Given the description of an element on the screen output the (x, y) to click on. 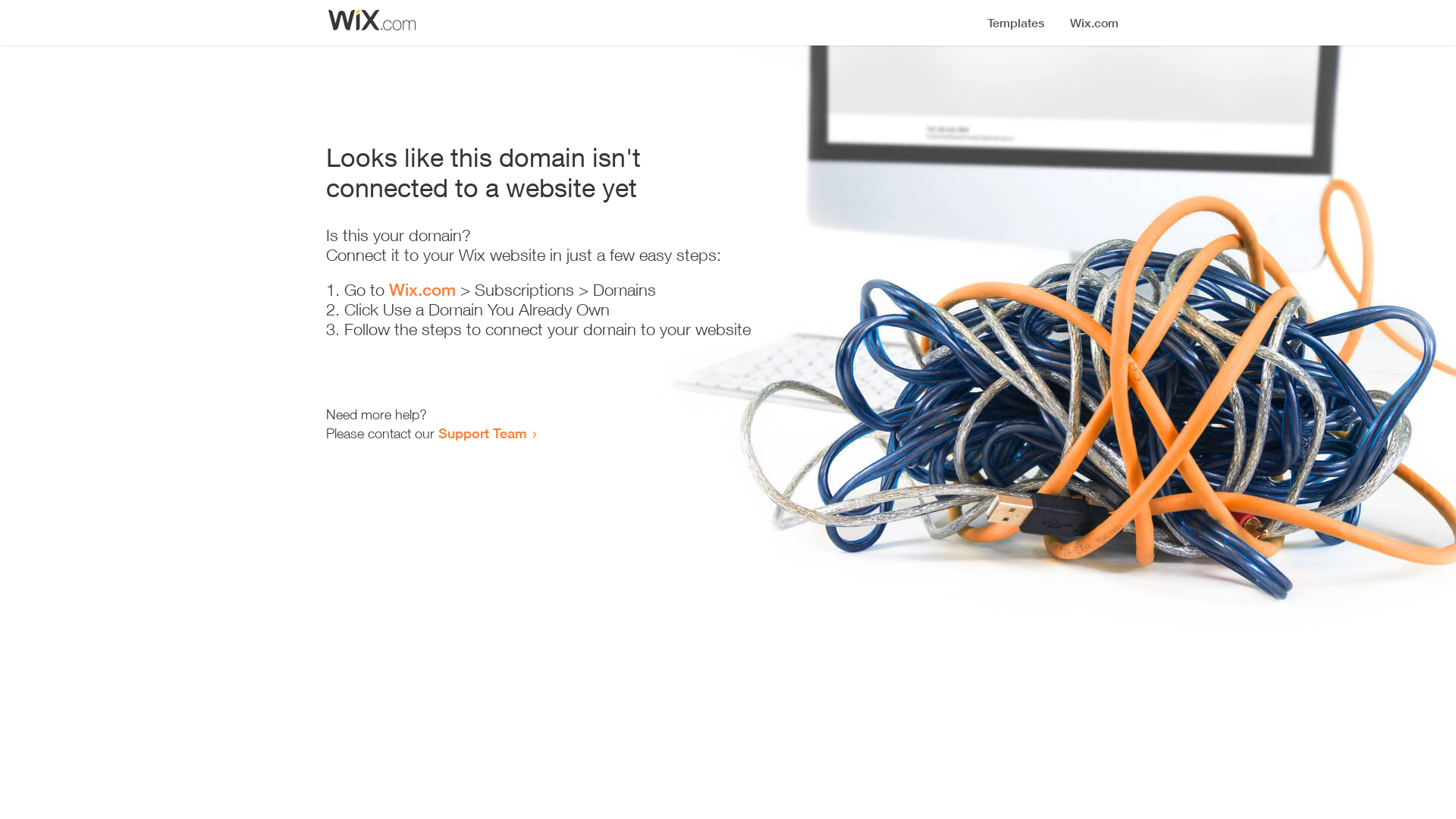
Wix.com Element type: text (422, 289)
Support Team Element type: text (482, 432)
